Given the description of an element on the screen output the (x, y) to click on. 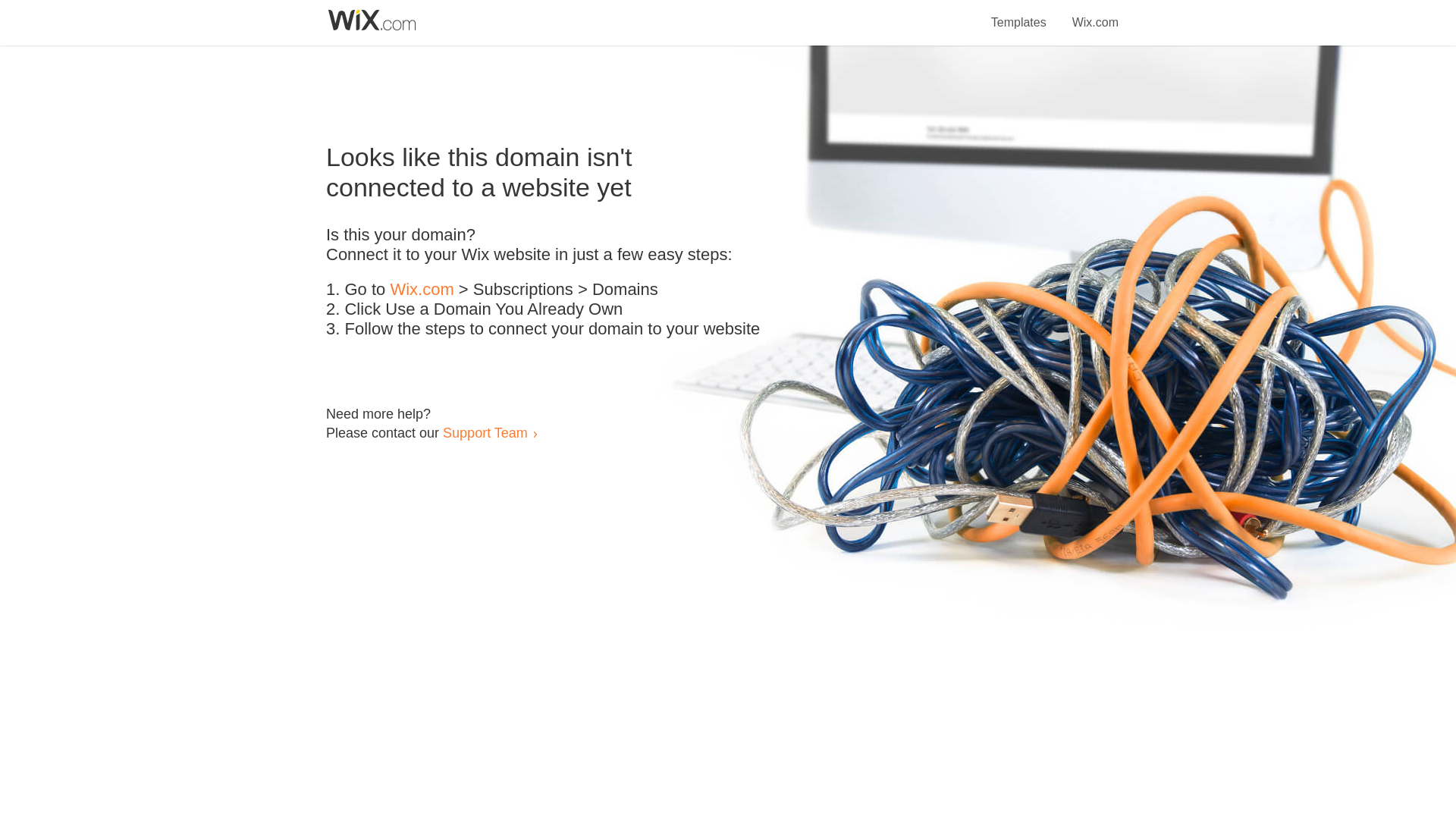
Wix.com (421, 289)
Wix.com (1095, 14)
Support Team (484, 432)
Templates (1018, 14)
